Given the description of an element on the screen output the (x, y) to click on. 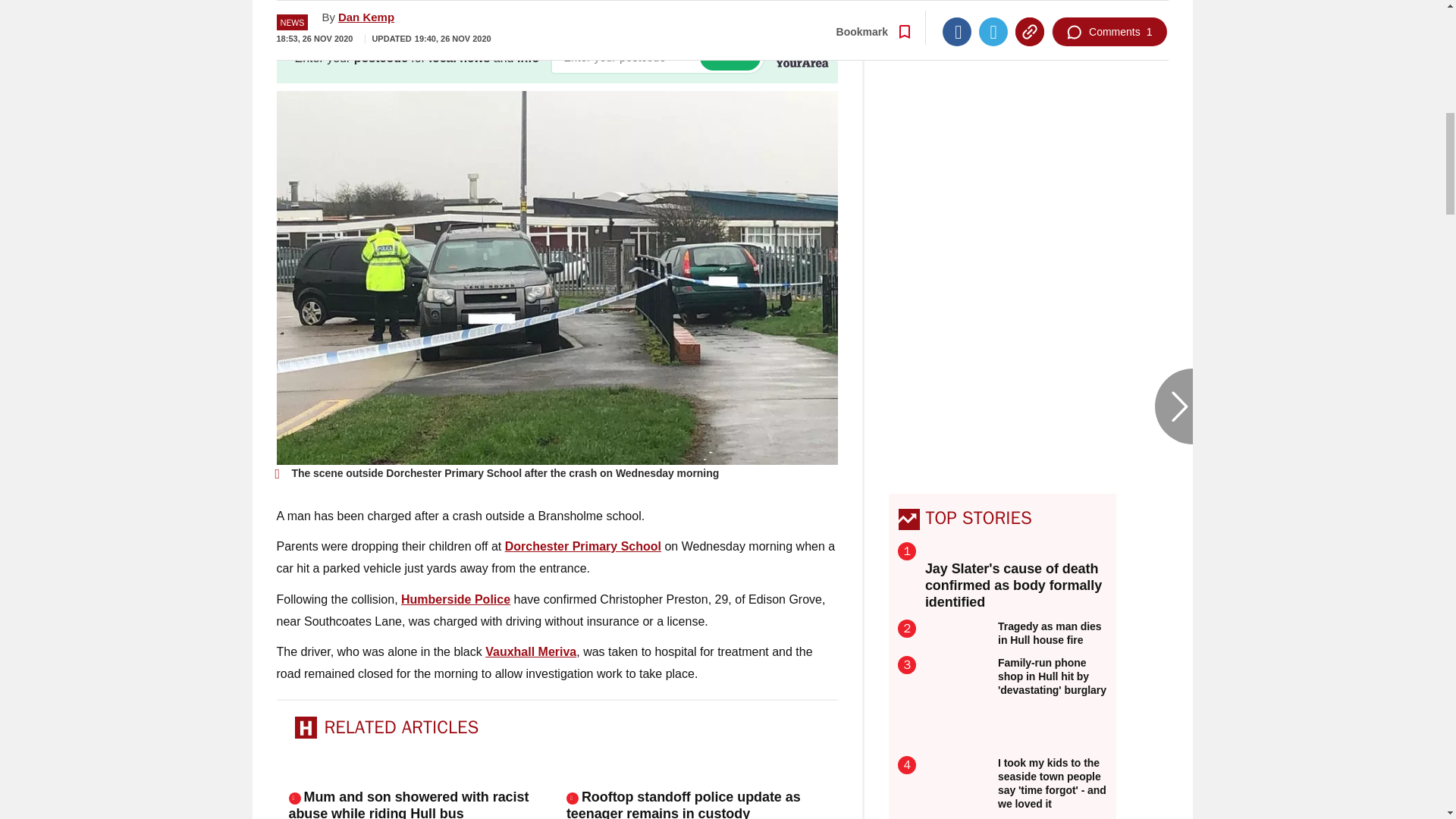
Go (730, 57)
